Given the description of an element on the screen output the (x, y) to click on. 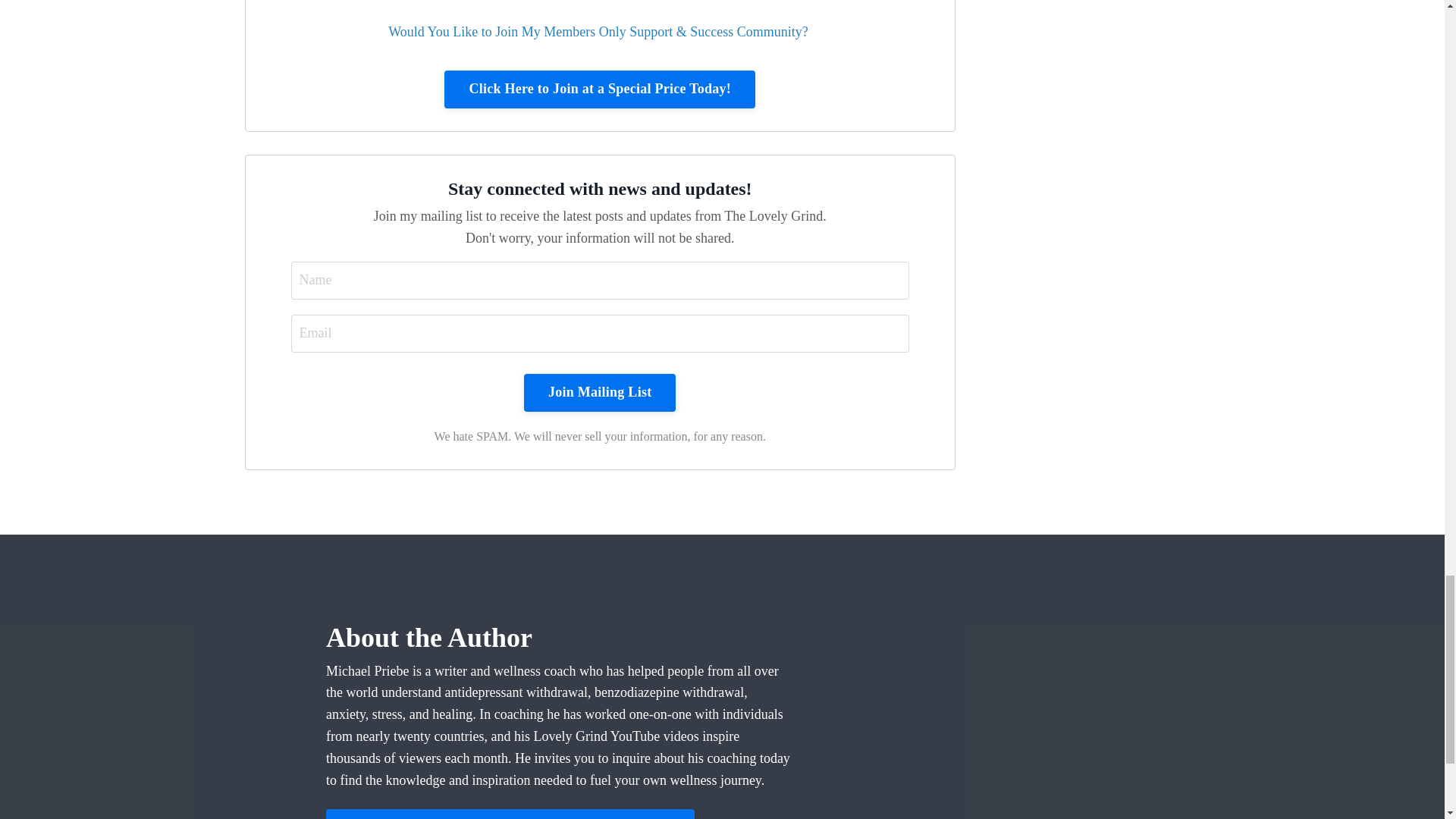
Join Mailing List (599, 392)
Click Here to Join at a Special Price Today! (599, 89)
Get More Information About Lovely Grind Coaching (510, 814)
Join Mailing List (599, 392)
